Given the description of an element on the screen output the (x, y) to click on. 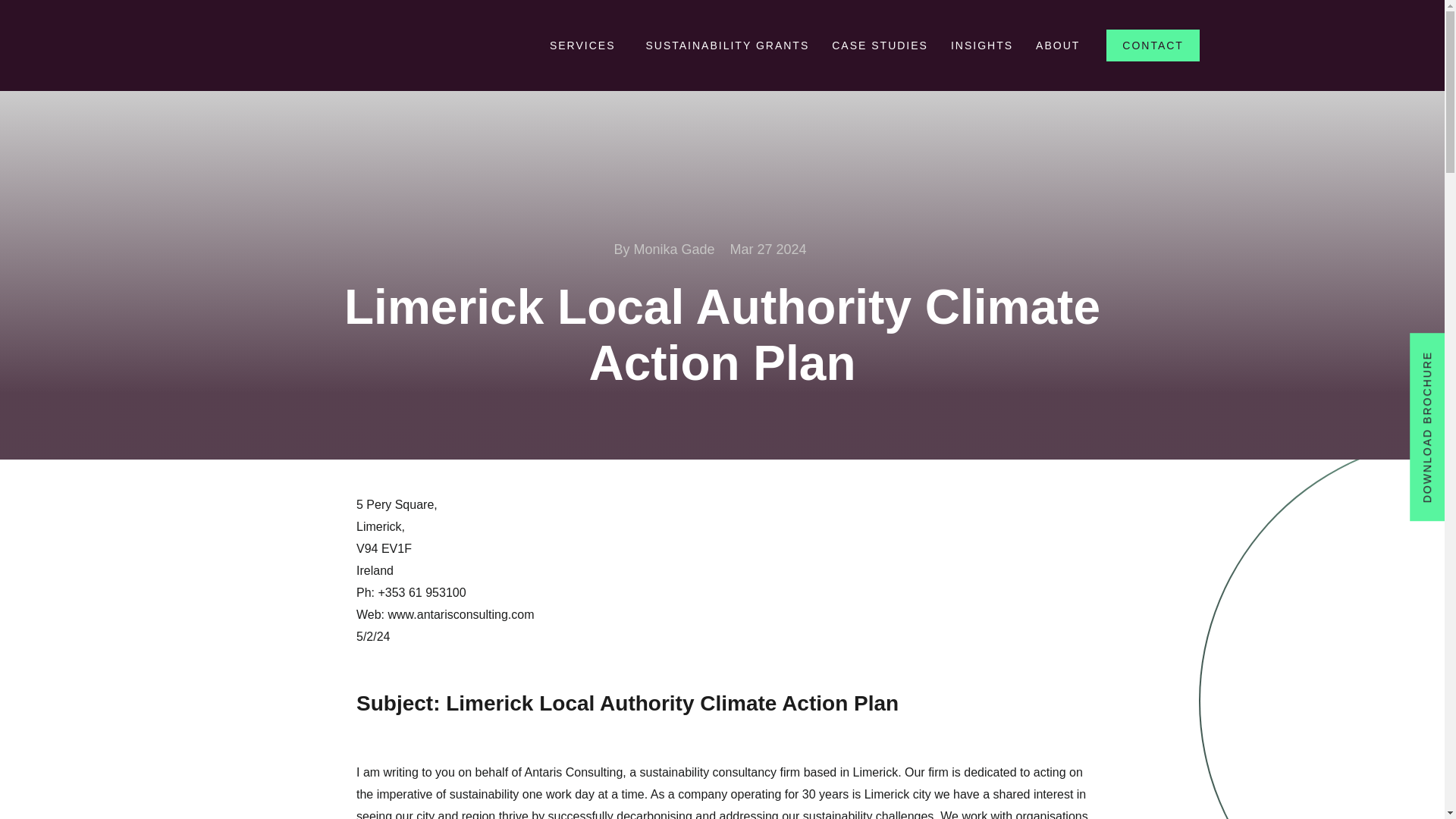
SERVICES (586, 45)
SUSTAINABILITY GRANTS (727, 45)
CONTACT (1152, 45)
INSIGHTS (982, 45)
ABOUT (1057, 45)
CASE STUDIES (880, 45)
